Given the description of an element on the screen output the (x, y) to click on. 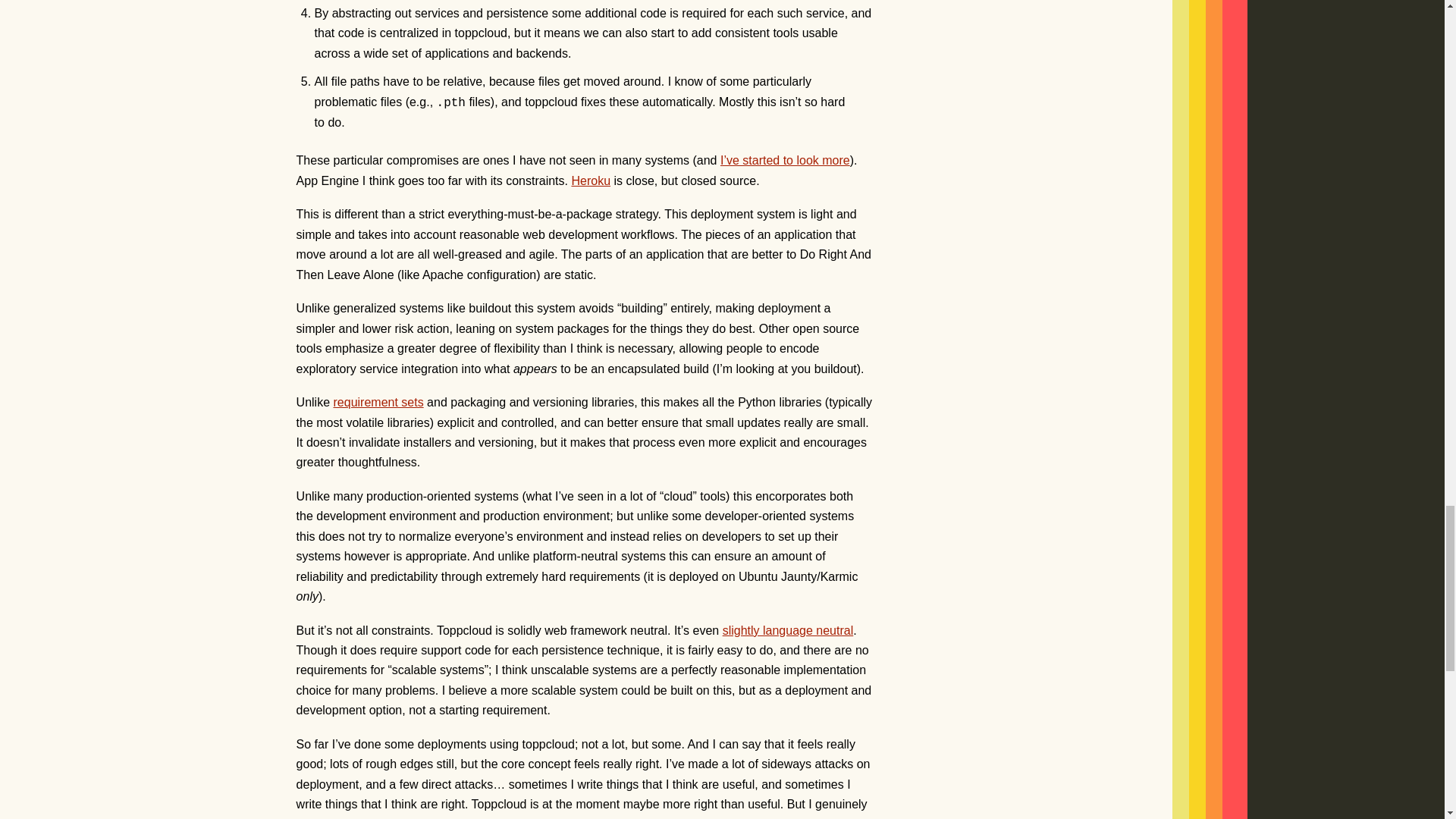
Heroku (590, 180)
slightly language neutral (787, 630)
requirement sets (378, 401)
